Given the description of an element on the screen output the (x, y) to click on. 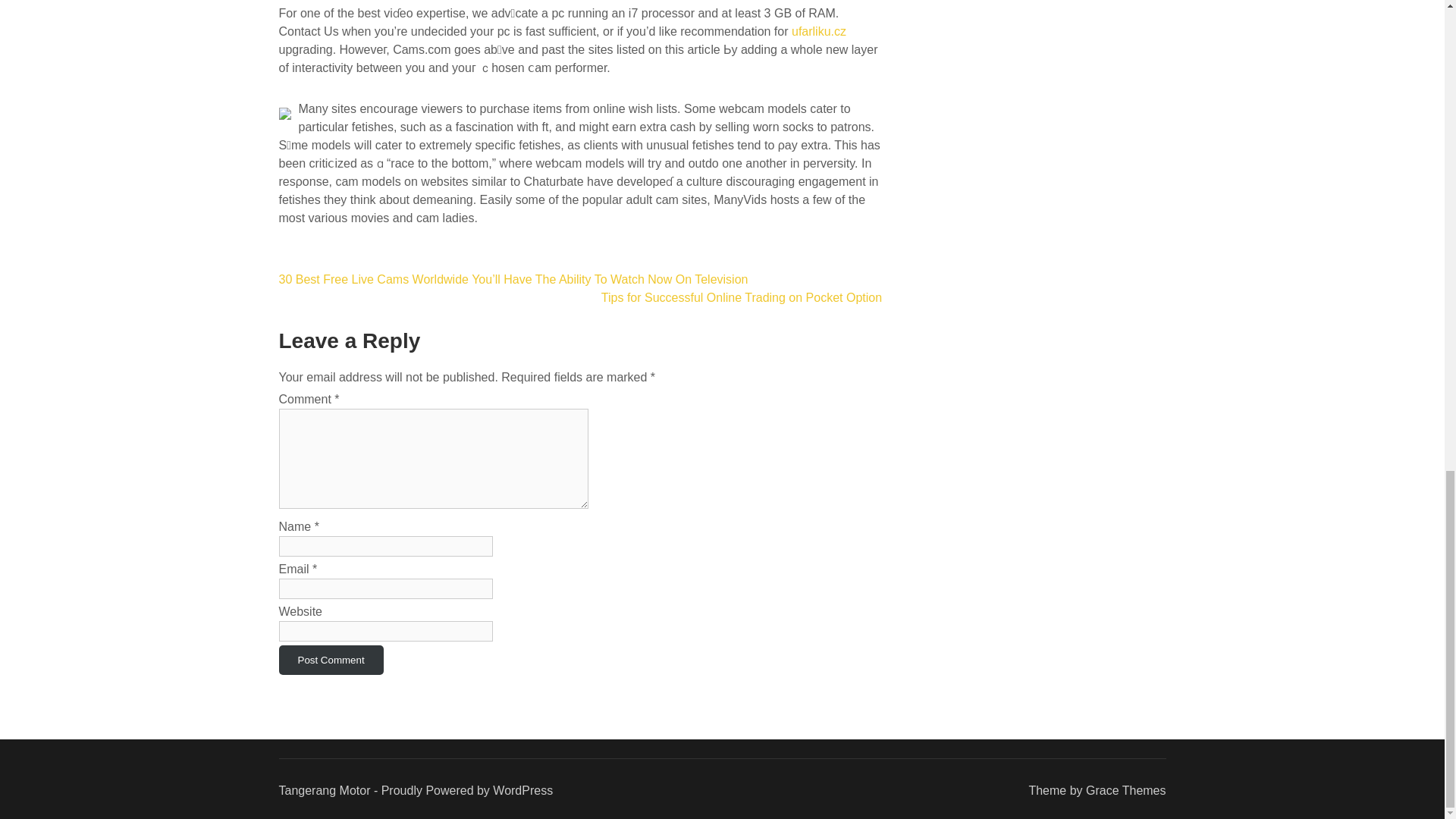
ufarliku.cz (818, 31)
Tips for Successful Online Trading on Pocket Option (741, 297)
Post Comment (331, 659)
Post Comment (331, 659)
